Given the description of an element on the screen output the (x, y) to click on. 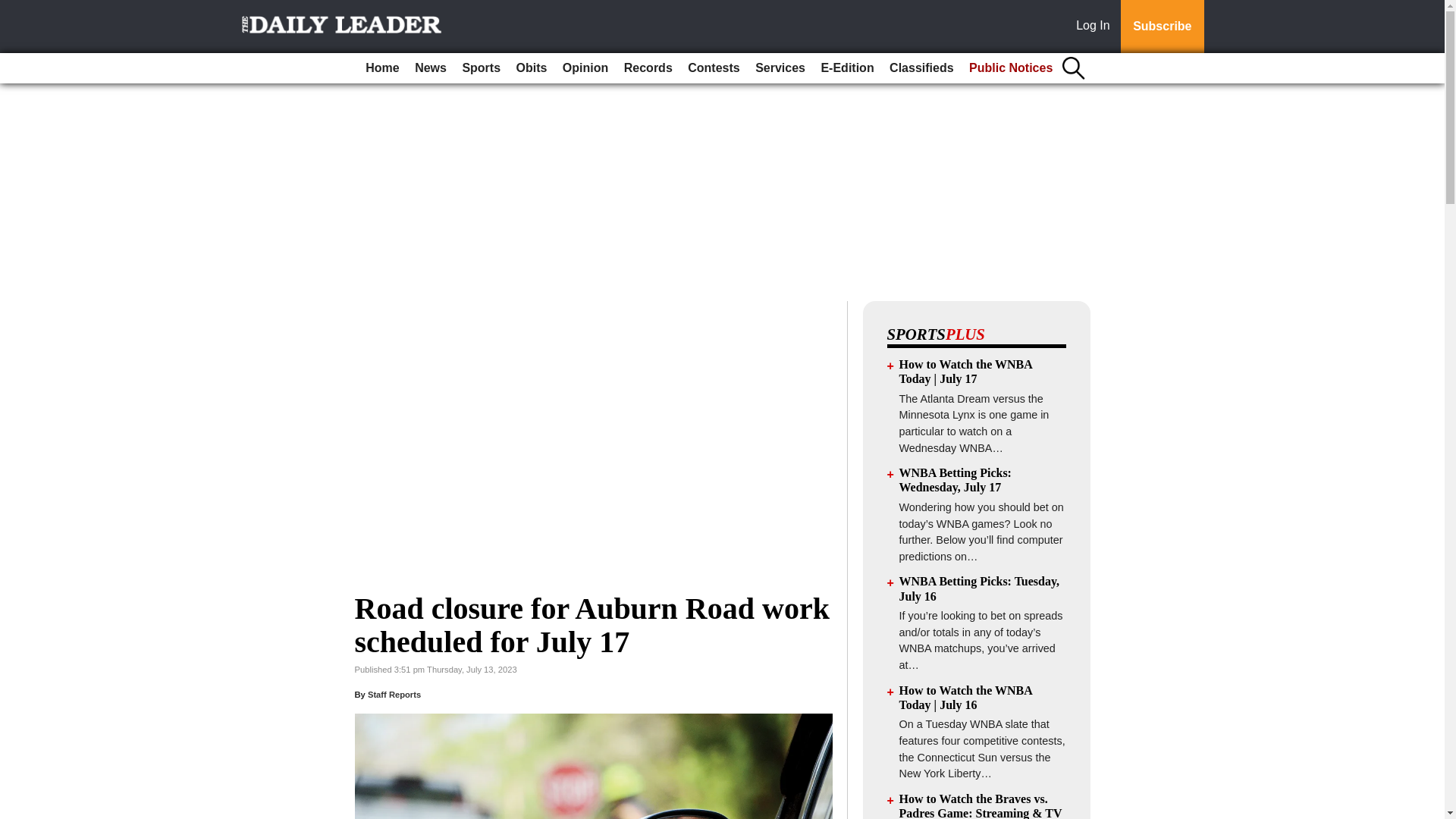
Classifieds (921, 68)
News (430, 68)
Services (779, 68)
Home (381, 68)
Records (647, 68)
WNBA Betting Picks: Tuesday, July 16 (979, 587)
Sports (480, 68)
Public Notices (1010, 68)
Staff Reports (394, 694)
WNBA Betting Picks: Wednesday, July 17 (955, 479)
Subscribe (1162, 26)
Obits (532, 68)
Contests (713, 68)
Go (13, 9)
Opinion (585, 68)
